Given the description of an element on the screen output the (x, y) to click on. 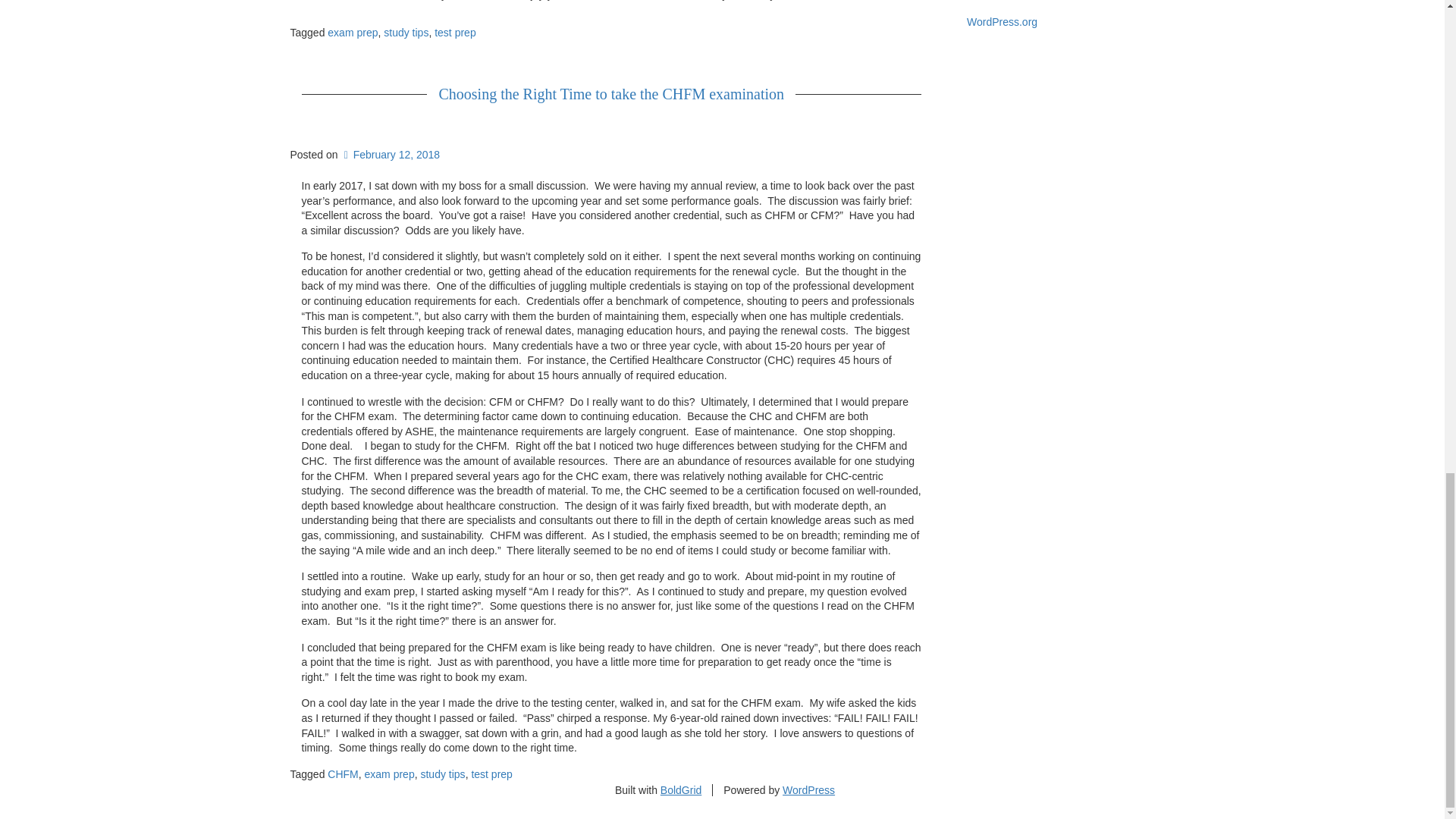
CHFM (342, 774)
study tips (406, 32)
February 12, 2018 (389, 154)
Choosing the Right Time to take the CHFM examination (610, 93)
exam prep (389, 774)
study tips (442, 774)
test prep (491, 774)
test prep (454, 32)
exam prep (352, 32)
